Given the description of an element on the screen output the (x, y) to click on. 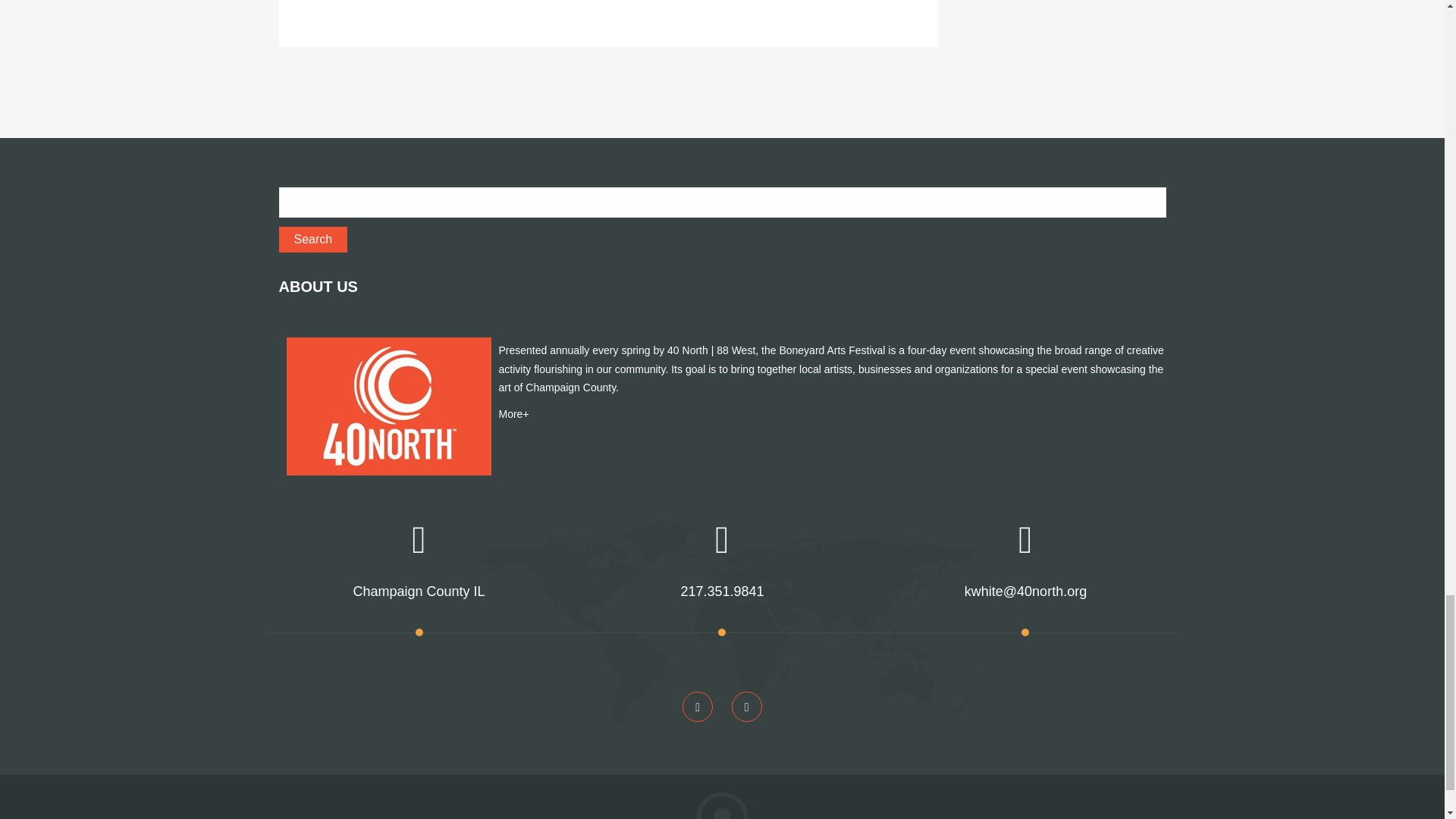
Search (313, 239)
Search (313, 239)
217.351.9841 (720, 590)
